Given the description of an element on the screen output the (x, y) to click on. 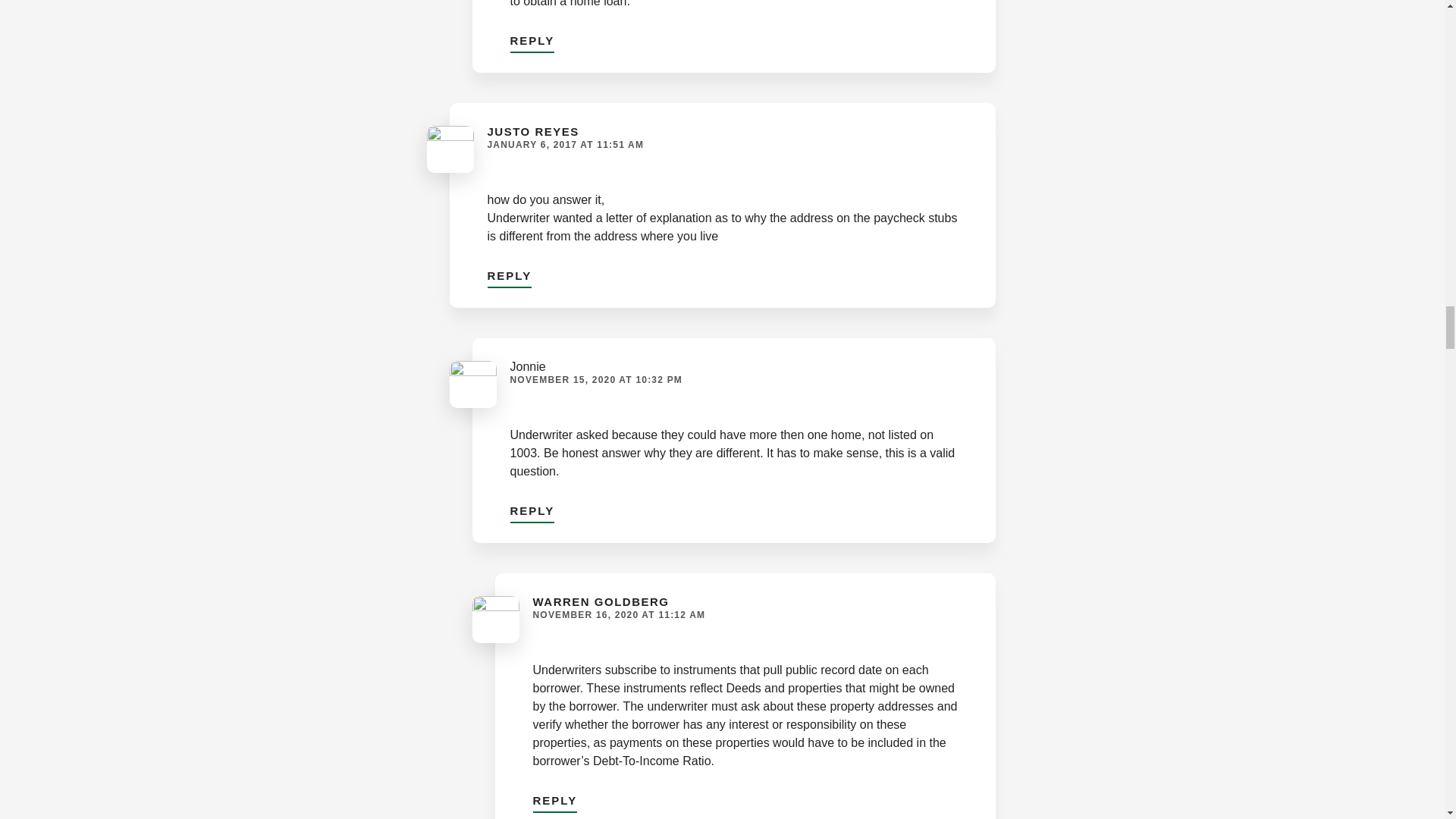
JANUARY 6, 2017 AT 11:51 AM (564, 144)
NOVEMBER 15, 2020 AT 10:32 PM (595, 379)
JUSTO REYES (532, 131)
REPLY (531, 507)
REPLY (508, 272)
REPLY (531, 37)
NOVEMBER 16, 2020 AT 11:12 AM (618, 614)
WARREN GOLDBERG (600, 601)
REPLY (554, 797)
